Given the description of an element on the screen output the (x, y) to click on. 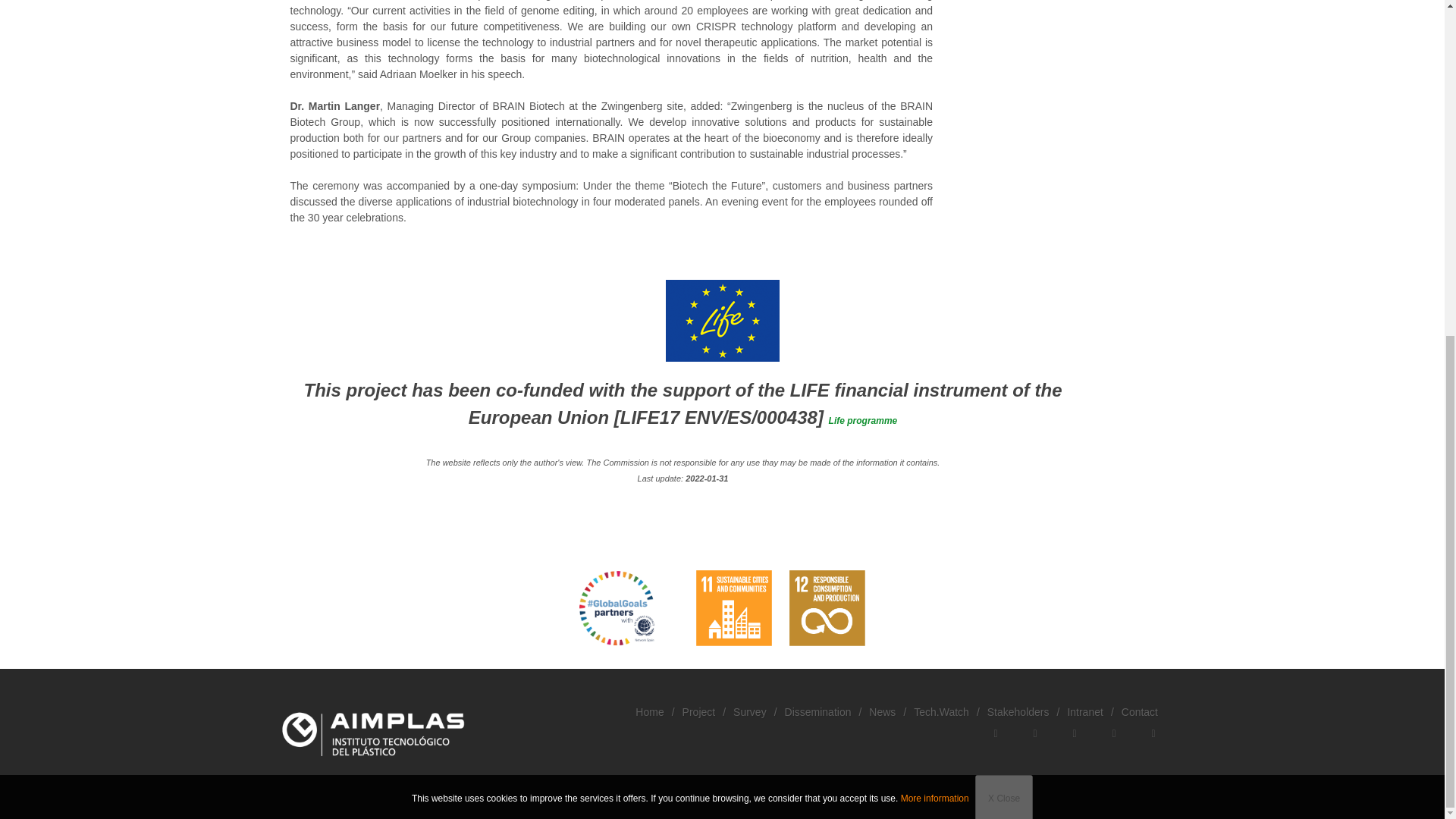
Intranet (1084, 711)
News (882, 711)
Life programme (863, 420)
Survey (750, 711)
Contact (1139, 711)
X Close (1003, 235)
Home (648, 711)
Dissemination (817, 711)
Tech.Watch (941, 711)
Project (699, 711)
Stakeholders (1018, 711)
